Given the description of an element on the screen output the (x, y) to click on. 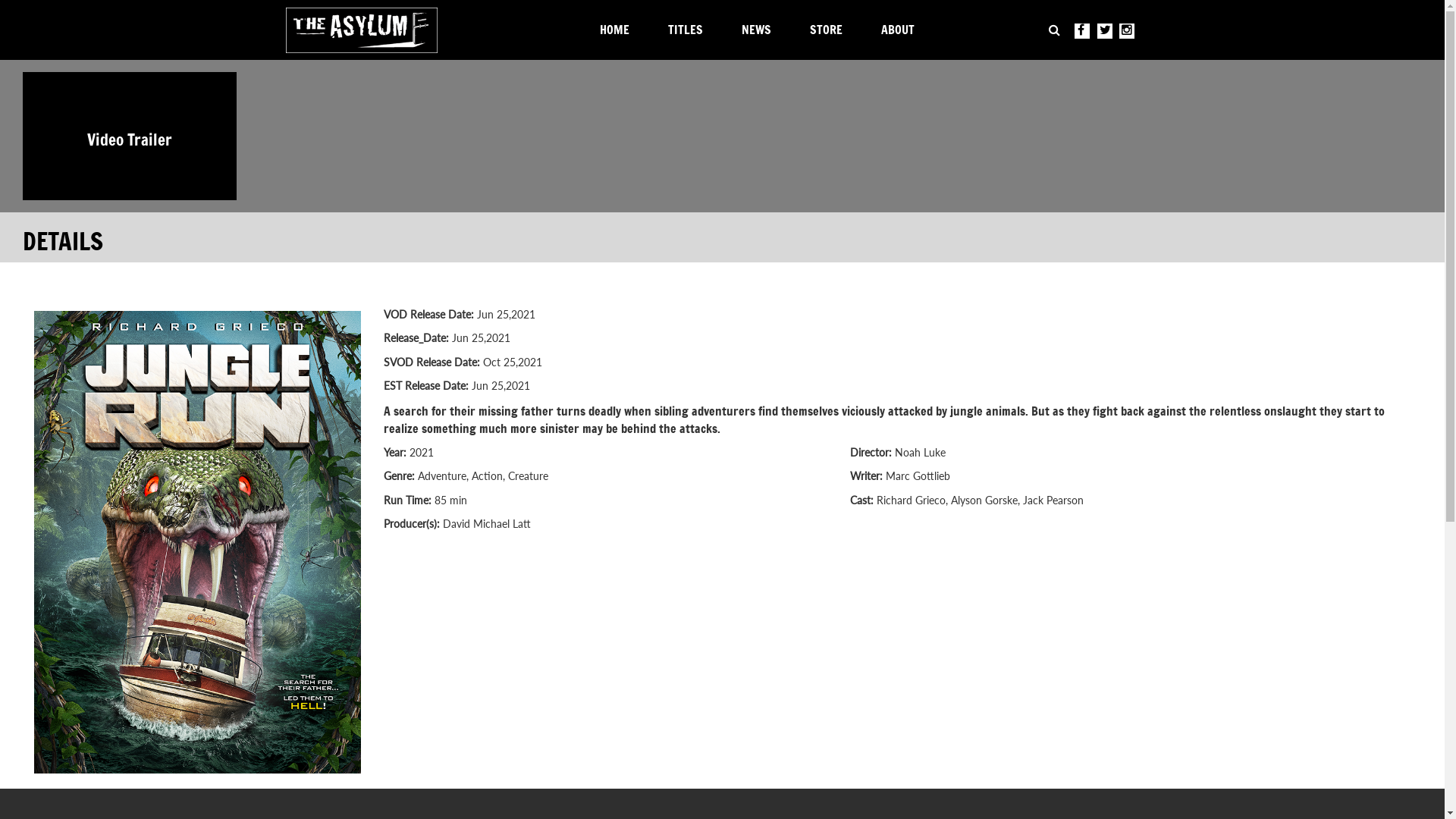
Video Trailer Element type: text (129, 136)
STORE Element type: text (829, 32)
HOME Element type: text (618, 32)
NEWS Element type: text (760, 32)
ABOUT Element type: text (901, 32)
TITLES Element type: text (689, 32)
